Given the description of an element on the screen output the (x, y) to click on. 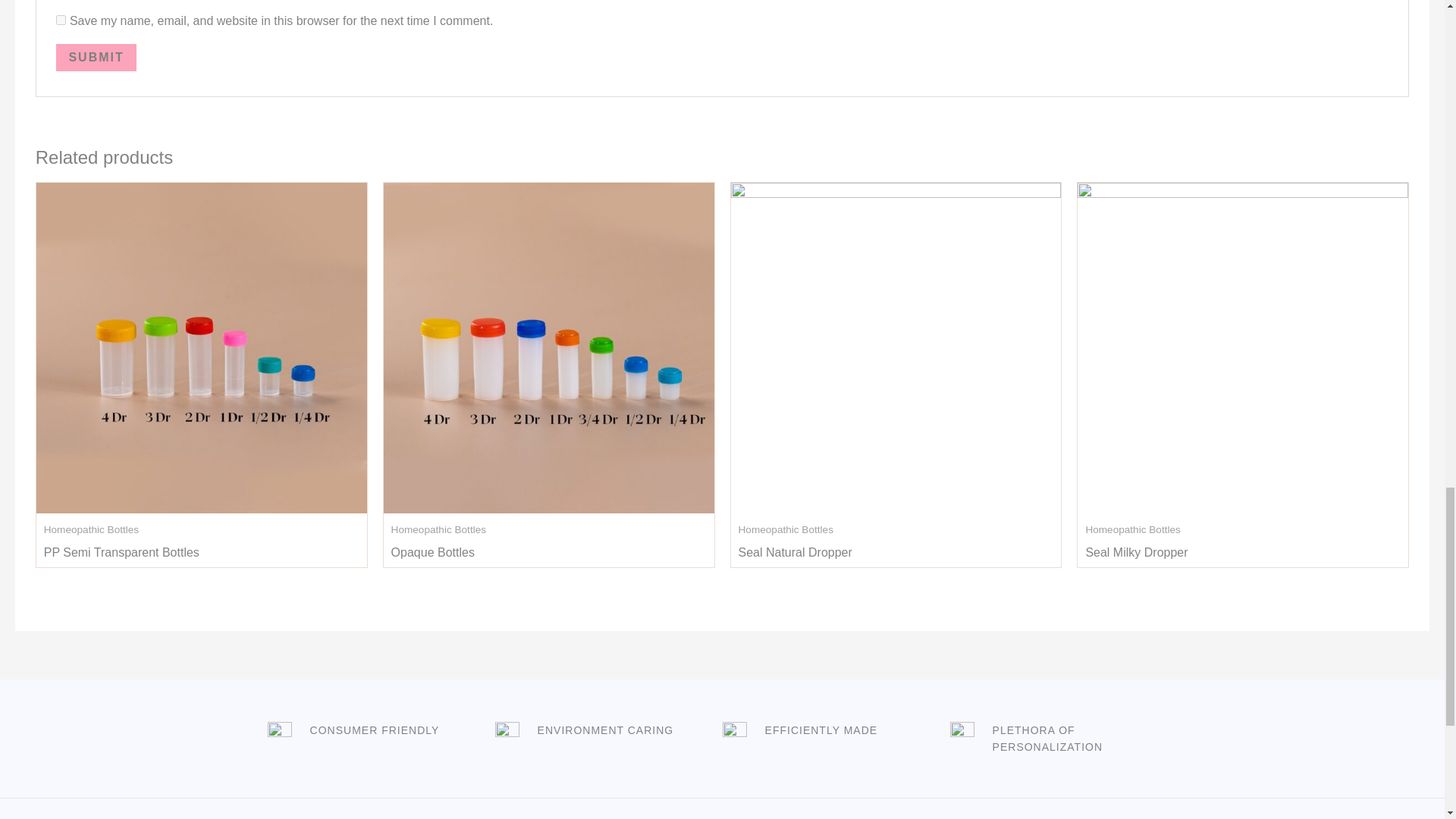
PP Semi Transparent Bottles (121, 556)
yes (60, 20)
Seal Natural Dropper (794, 556)
Seal Milky Dropper (1136, 556)
Submit (95, 57)
Submit (95, 57)
Opaque Bottles (432, 556)
